Given the description of an element on the screen output the (x, y) to click on. 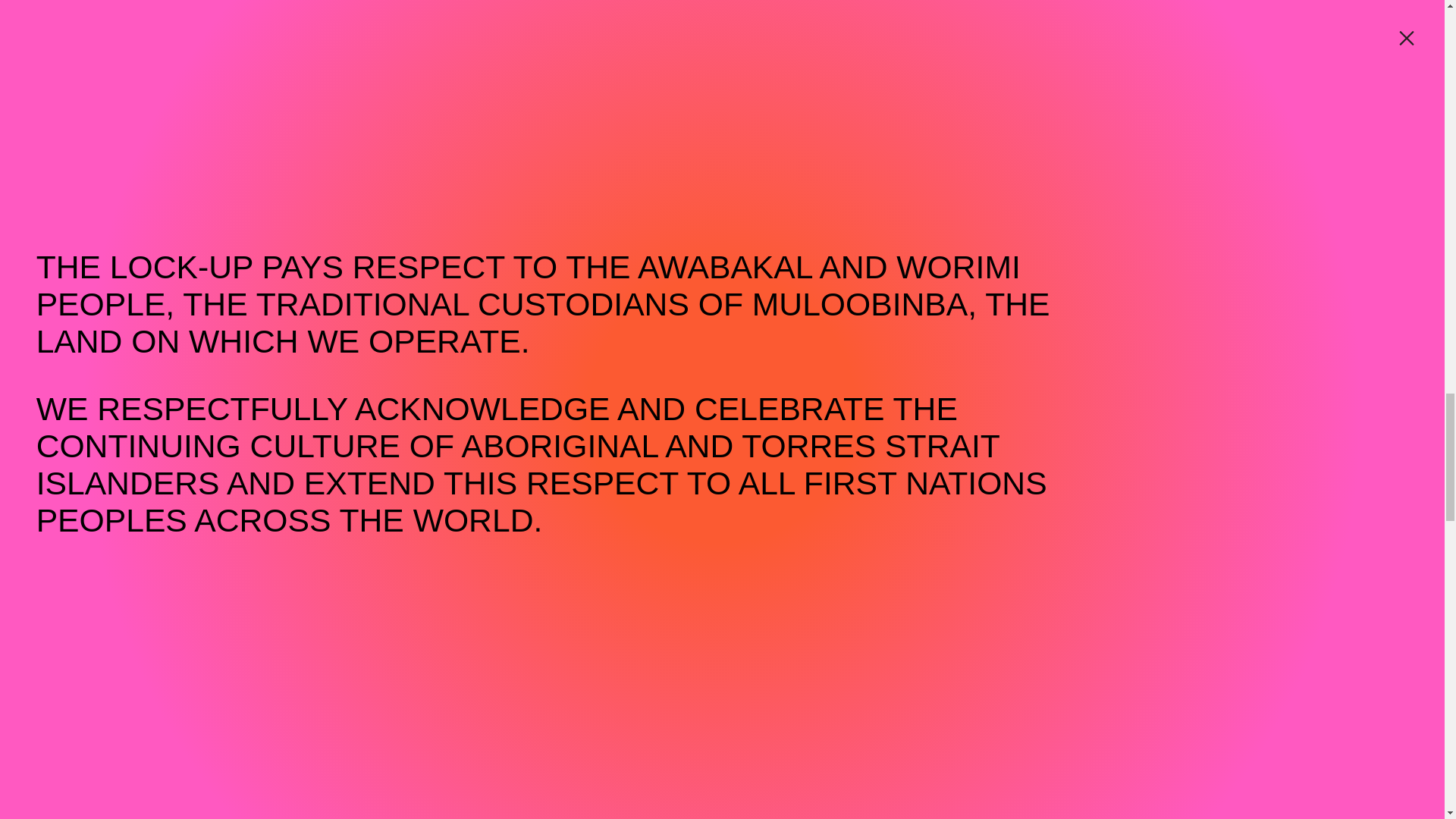
2018 (363, 501)
2015 (521, 501)
KHALED SABSABI (165, 222)
2021 (204, 501)
2024 (47, 501)
2020 (258, 501)
2014 (573, 501)
2019 (310, 501)
2022 (152, 501)
2016 (469, 501)
2017 (416, 501)
2023 (100, 501)
